Given the description of an element on the screen output the (x, y) to click on. 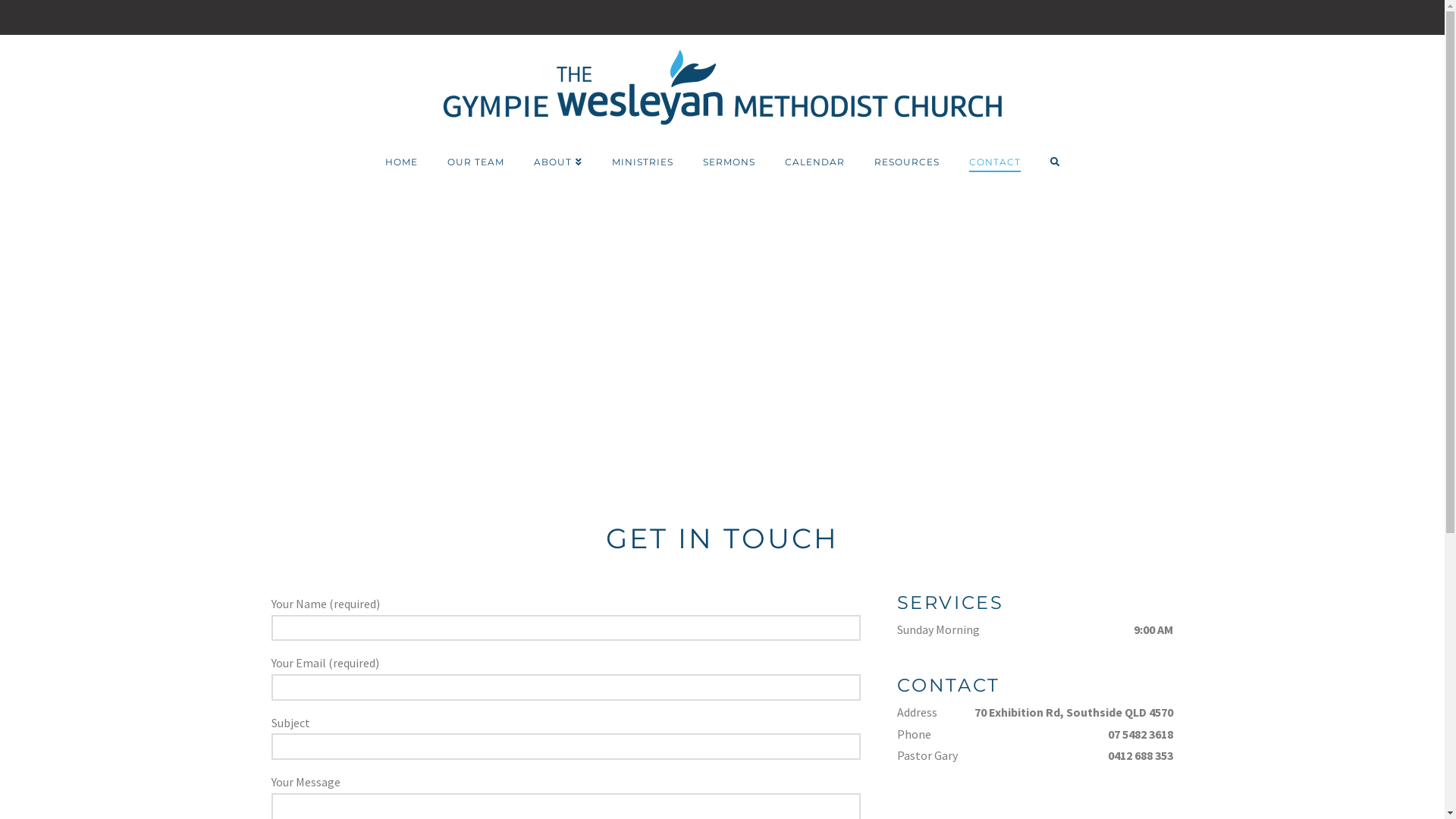
CONTACT Element type: text (994, 162)
MINISTRIES Element type: text (641, 162)
CALENDAR Element type: text (814, 162)
RESOURCES Element type: text (906, 162)
SERMONS Element type: text (728, 162)
HOME Element type: text (401, 162)
OUR TEAM Element type: text (475, 162)
ABOUT Element type: text (557, 162)
